Given the description of an element on the screen output the (x, y) to click on. 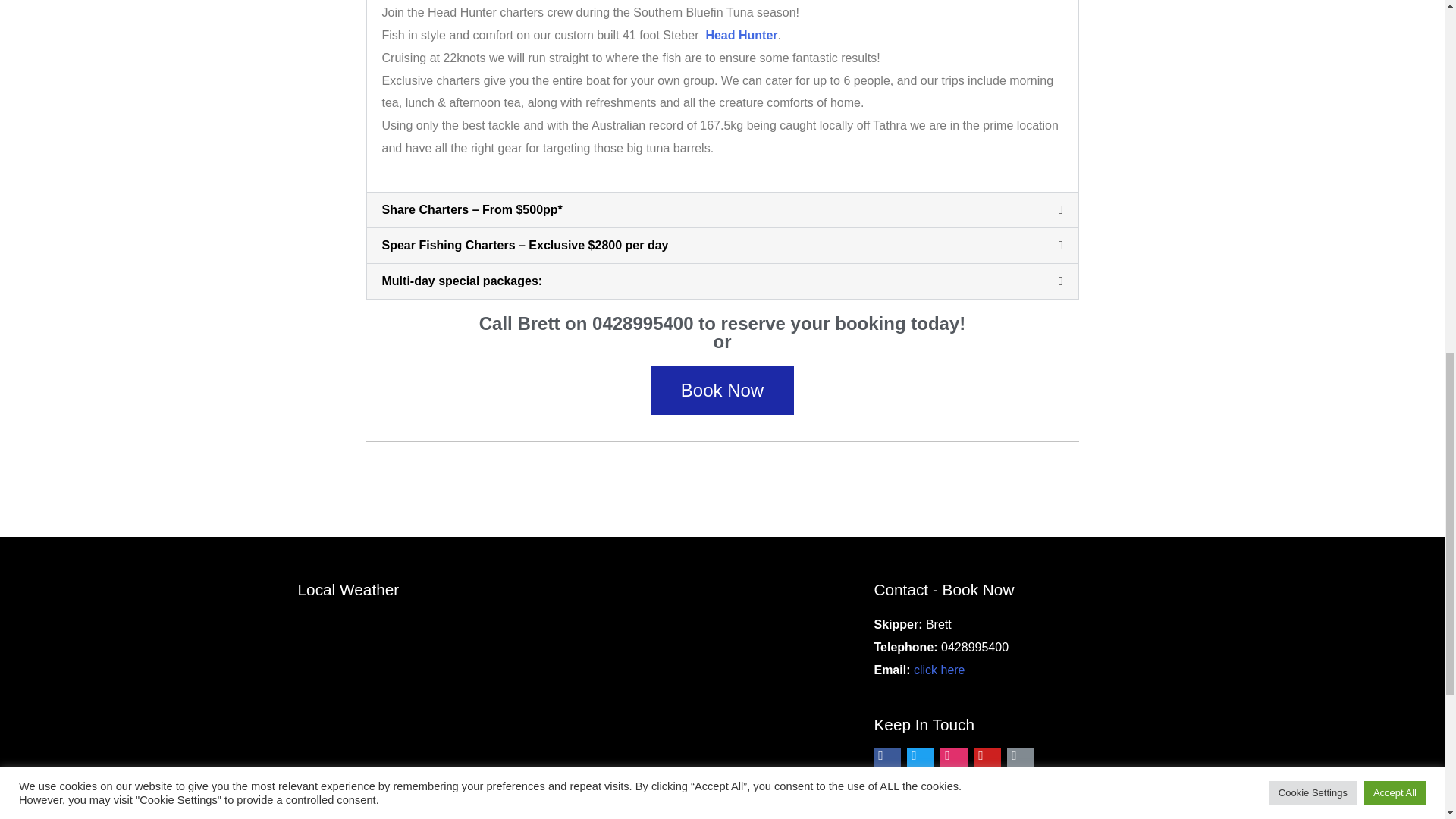
Multi-day special packages: (462, 280)
click here (939, 669)
Head Hunter (740, 34)
Book Now (721, 390)
